Given the description of an element on the screen output the (x, y) to click on. 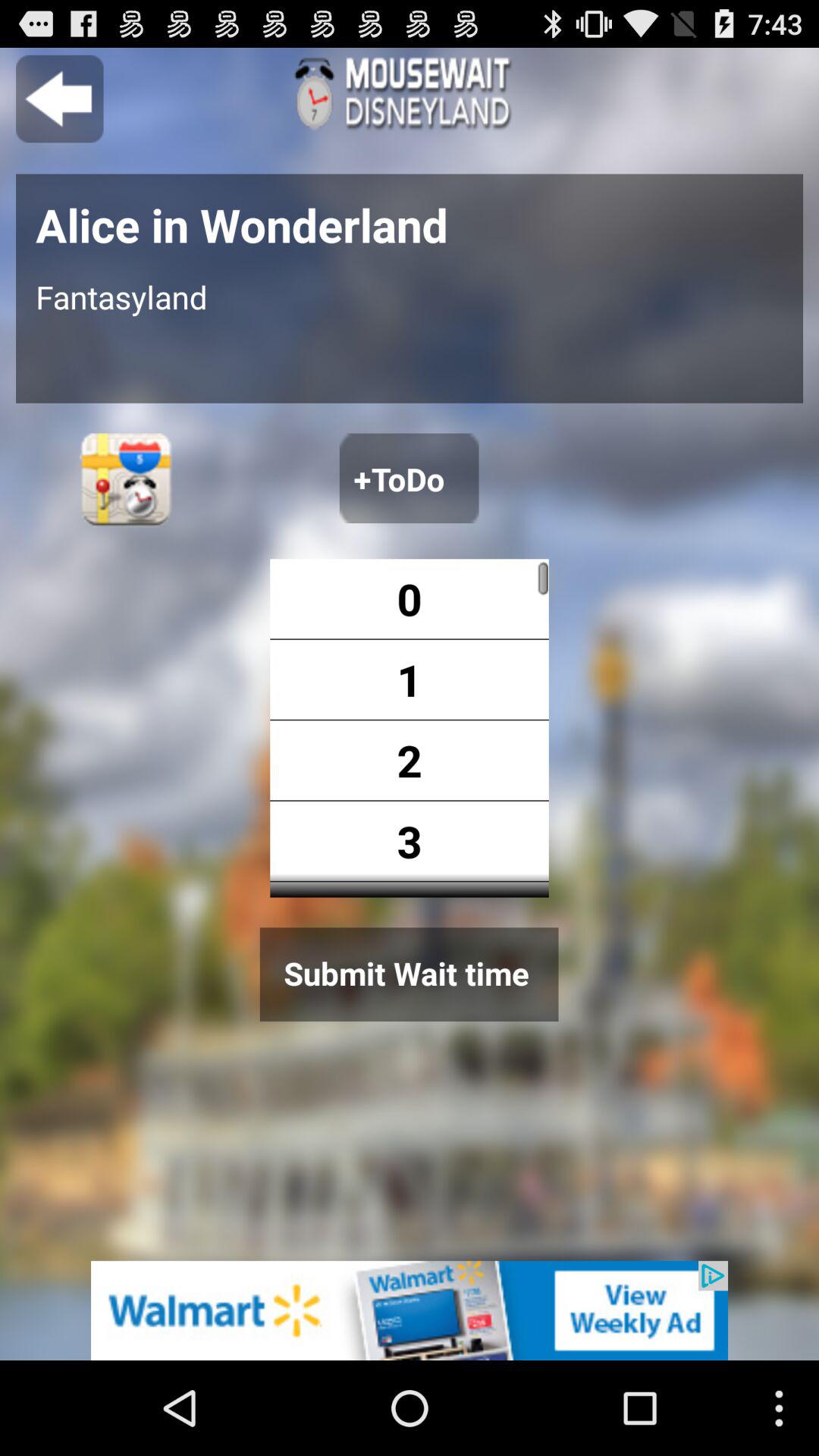
it 's a submit button (408, 974)
